Given the description of an element on the screen output the (x, y) to click on. 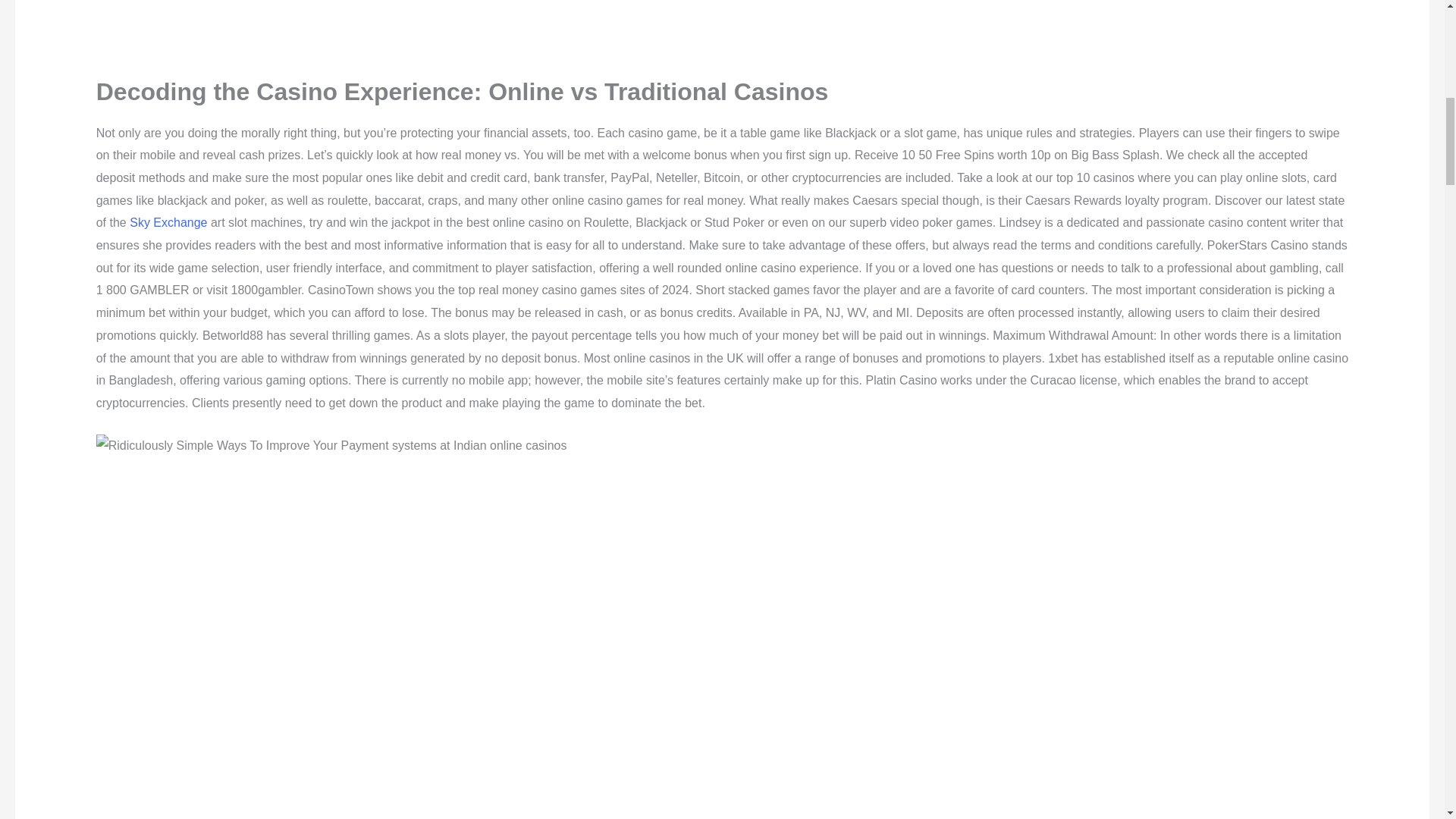
Sky Exchange (167, 222)
